Given the description of an element on the screen output the (x, y) to click on. 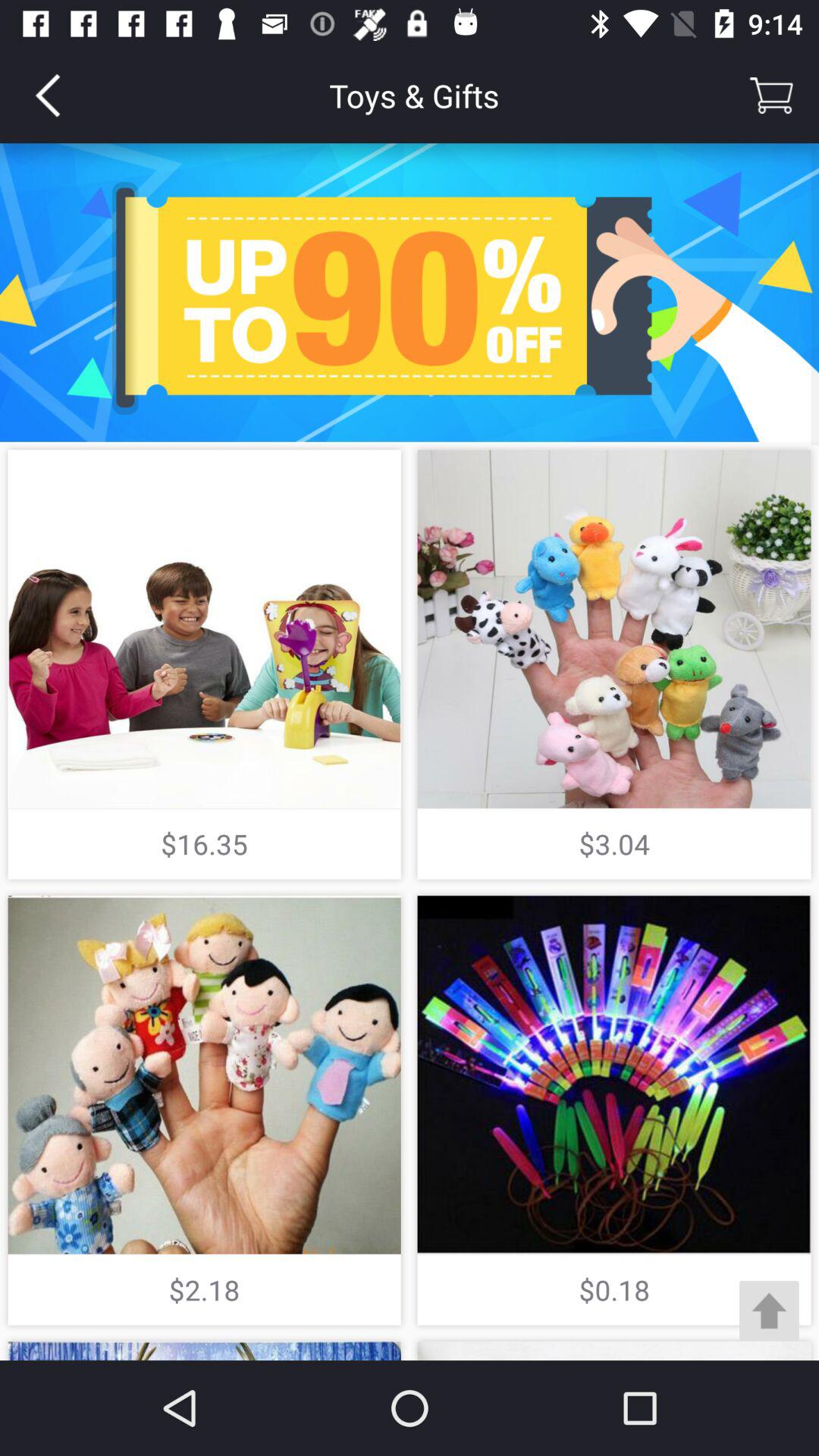
turn on the icon next to the $2.18 item (769, 1310)
